Given the description of an element on the screen output the (x, y) to click on. 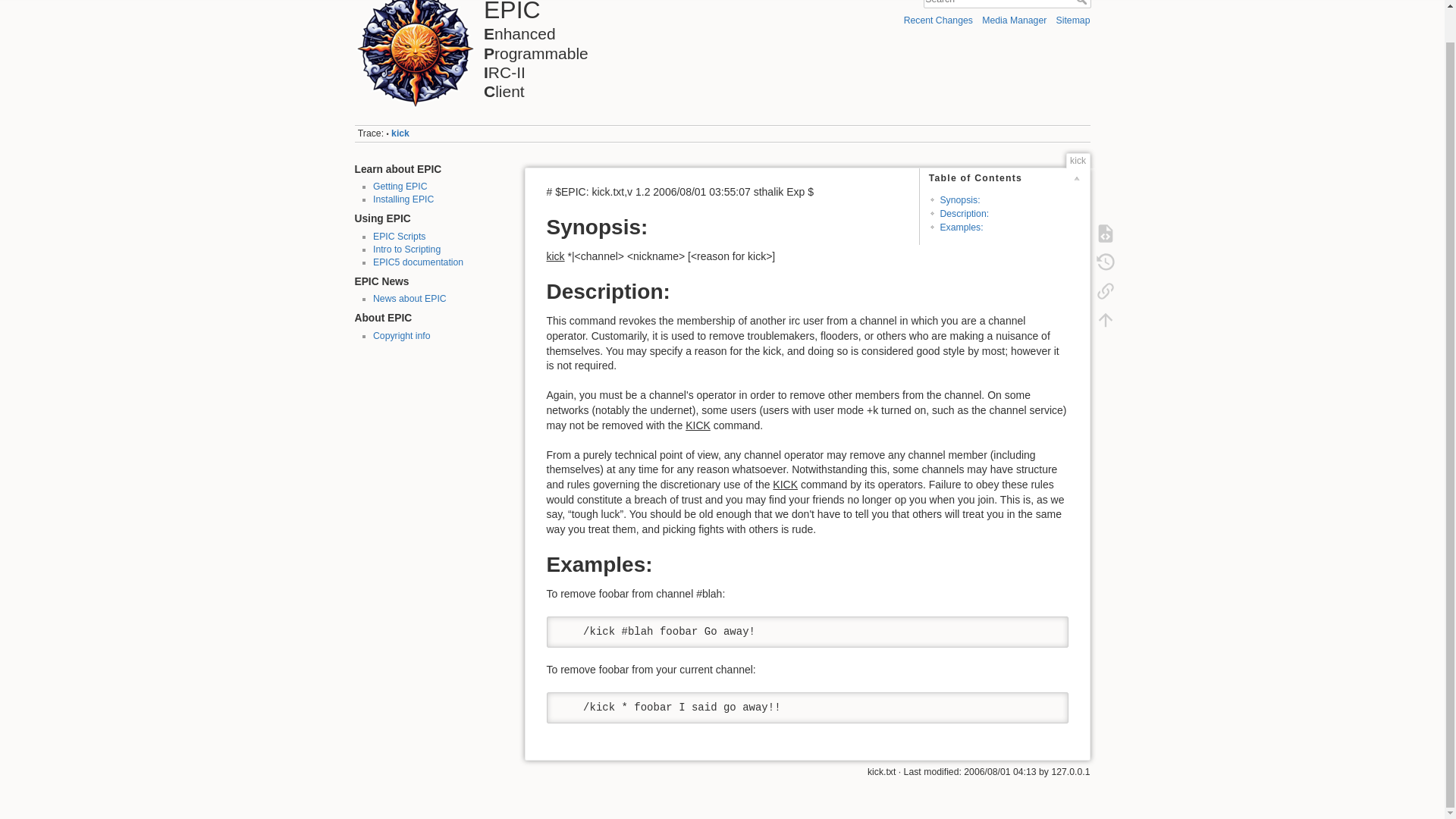
Search (1082, 2)
Sitemap (1073, 20)
kick (400, 132)
Examples: (534, 50)
Intro to Scripting (960, 226)
Copyright info (406, 249)
installing (401, 335)
Media Manager (402, 199)
Getting EPIC (1013, 20)
Media Manager (400, 185)
Search (1013, 20)
kick (1082, 2)
EPIC5 documentation (400, 132)
Description: (417, 262)
